Given the description of an element on the screen output the (x, y) to click on. 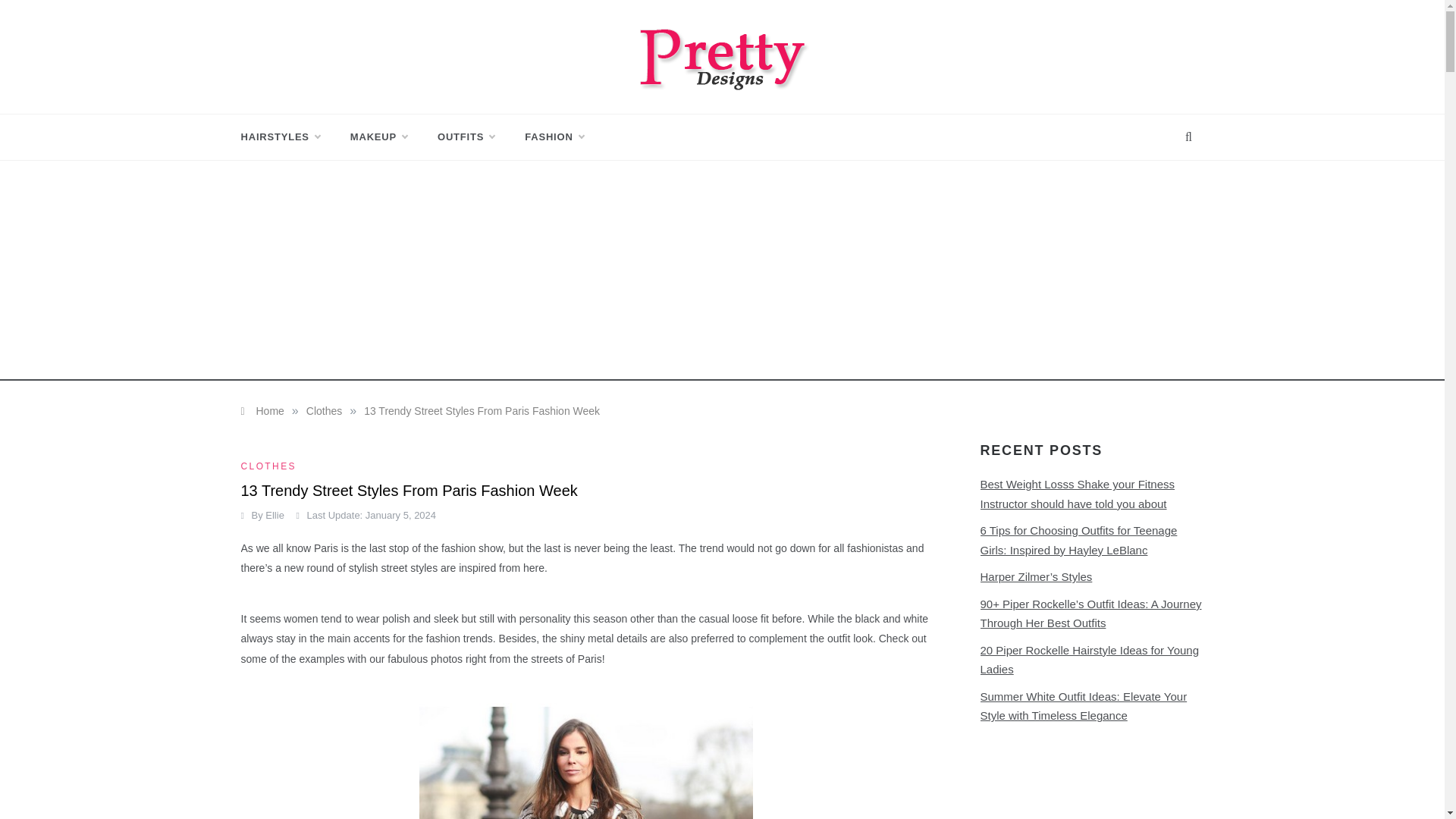
CLOTHES (270, 466)
OUTFITS (465, 136)
MAKEUP (378, 136)
FASHION (546, 136)
13 Trendy Street Styles From Paris Fashion Week (481, 410)
Home (262, 410)
HAIRSTYLES (287, 136)
Clothes (323, 410)
Ellie (273, 514)
